Given the description of an element on the screen output the (x, y) to click on. 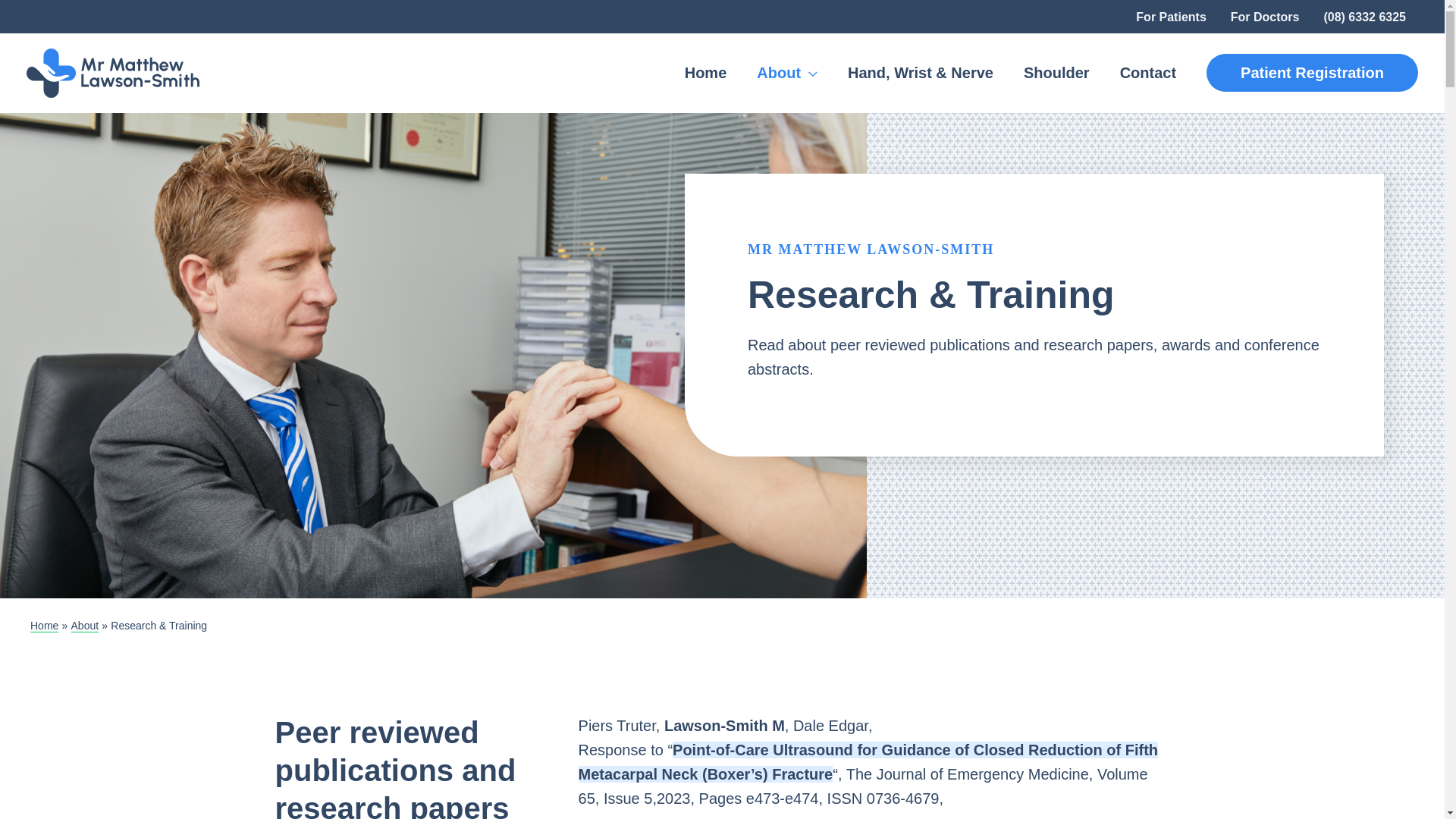
Hand, Wrist & Nerve Element type: text (920, 72)
(08) 6332 6325 Element type: text (1364, 17)
For Doctors Element type: text (1264, 17)
Home Element type: text (705, 72)
About Element type: text (786, 72)
Home Element type: text (44, 625)
For Patients Element type: text (1170, 17)
Patient Registration Element type: text (1312, 72)
Shoulder Element type: text (1056, 72)
Contact Element type: text (1147, 72)
About Element type: text (85, 625)
